Given the description of an element on the screen output the (x, y) to click on. 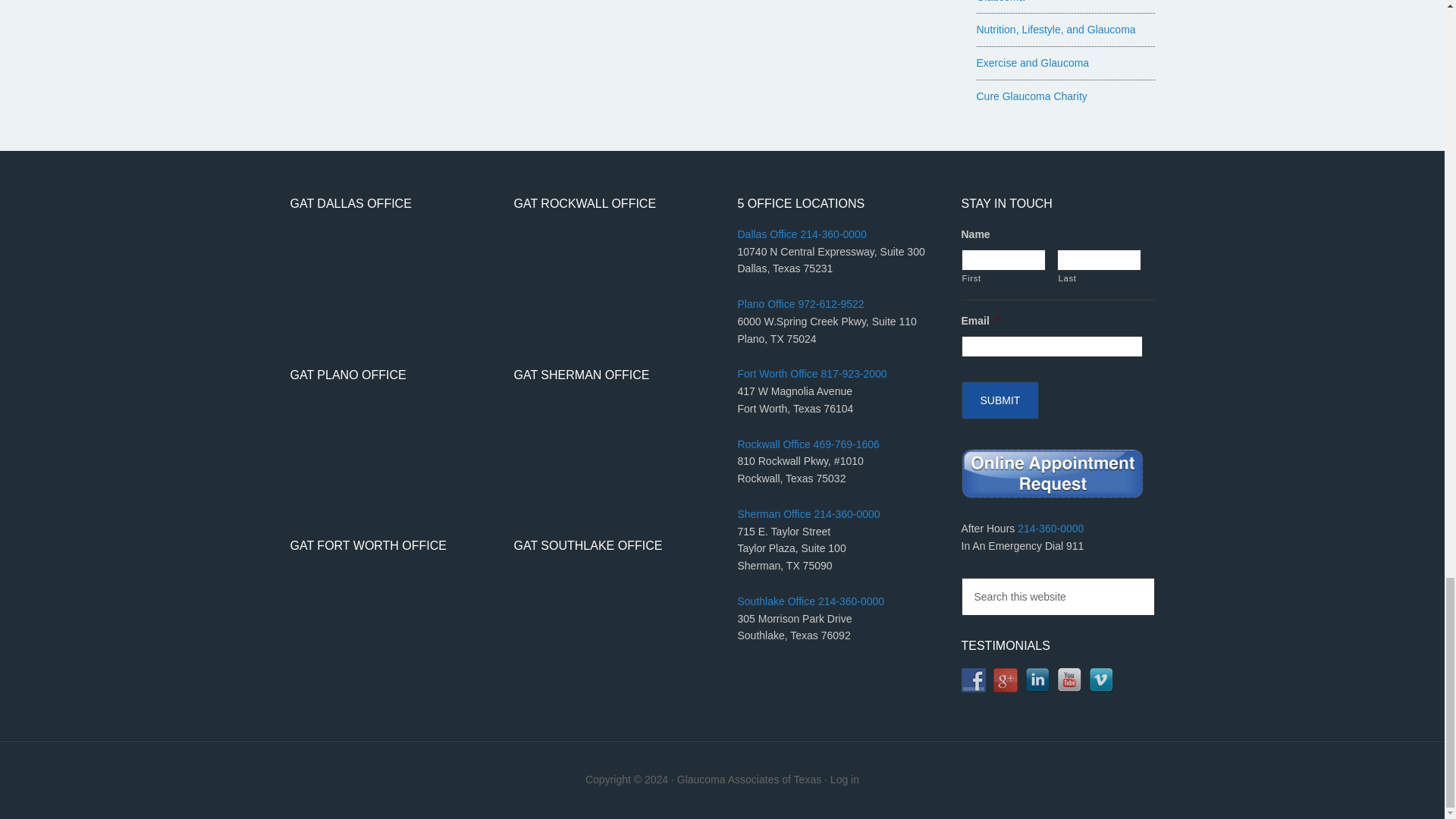
Submit (999, 400)
